Given the description of an element on the screen output the (x, y) to click on. 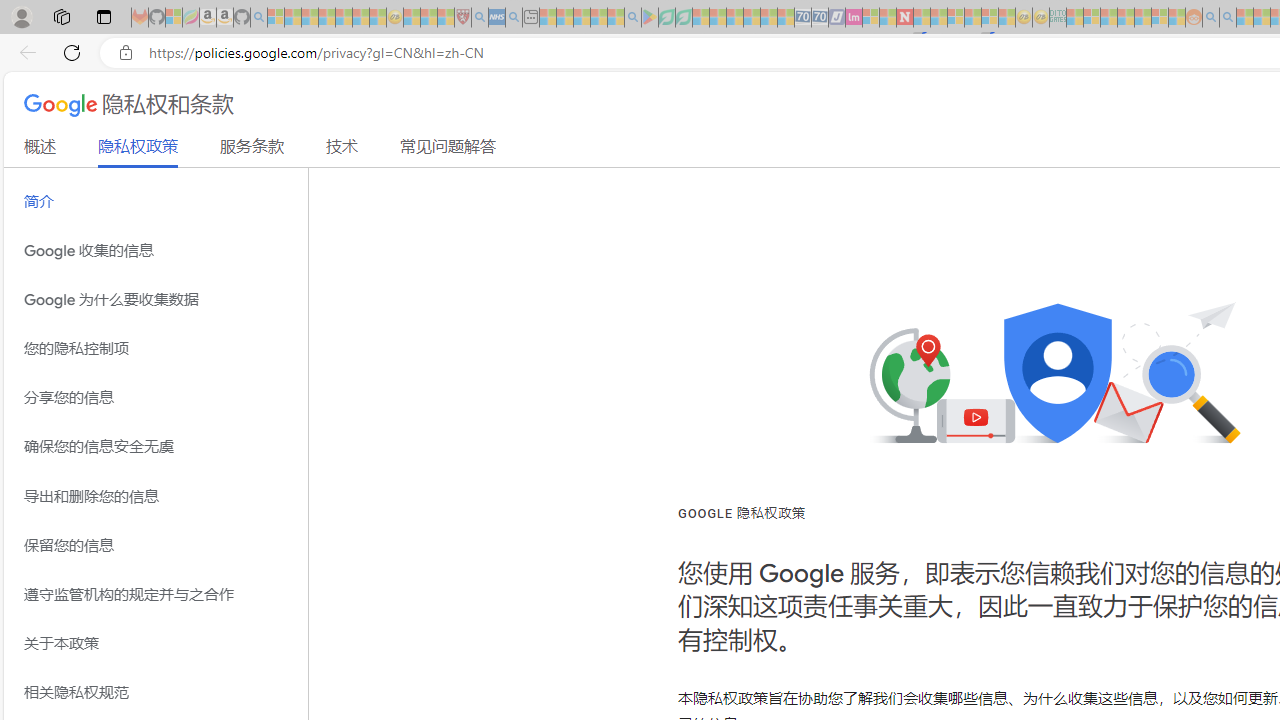
Bluey: Let's Play! - Apps on Google Play - Sleeping (649, 17)
Terms of Use Agreement - Sleeping (666, 17)
